Given the description of an element on the screen output the (x, y) to click on. 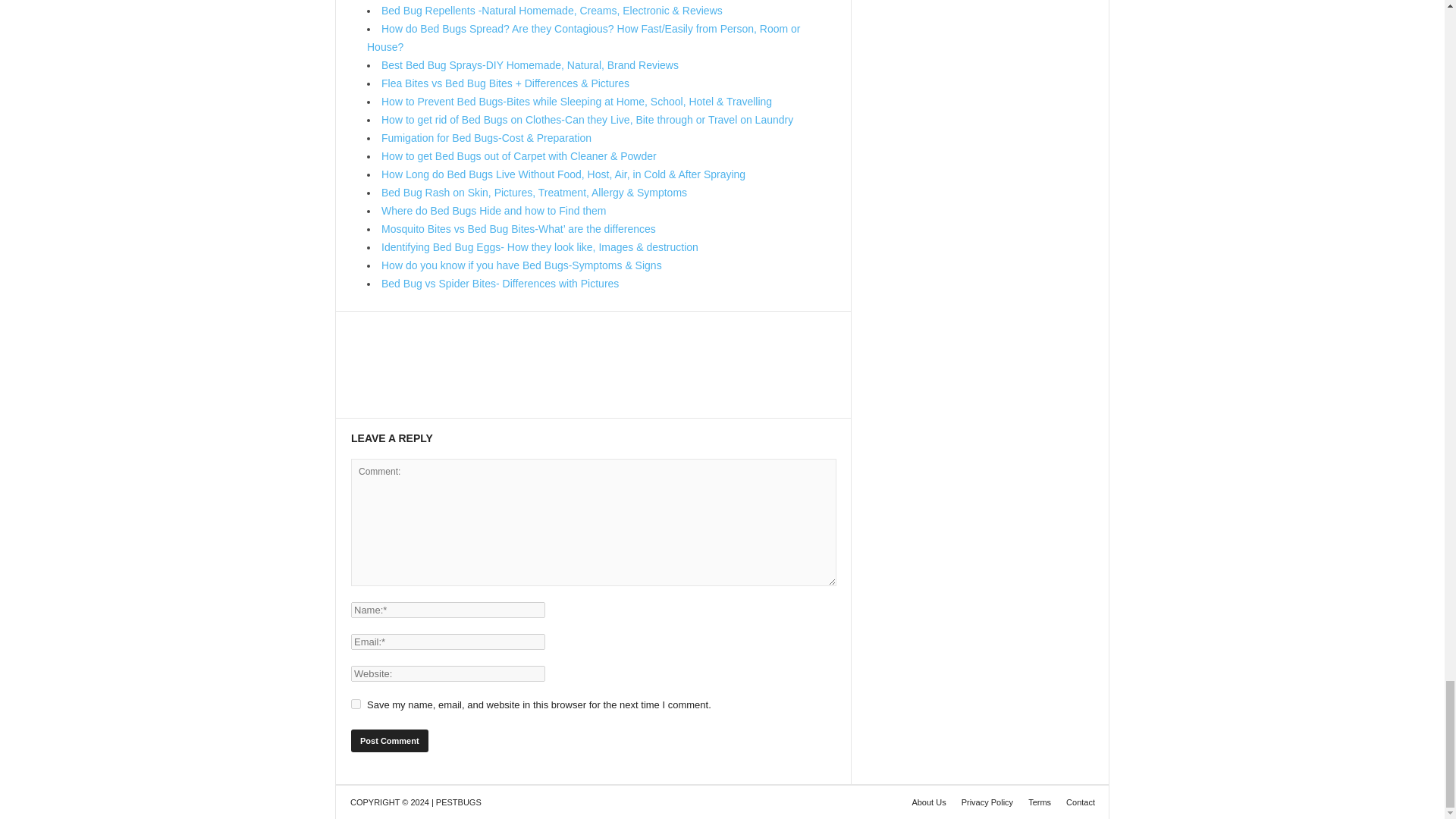
yes (355, 704)
bottomFacebookLike (390, 326)
Post Comment (389, 740)
